Given the description of an element on the screen output the (x, y) to click on. 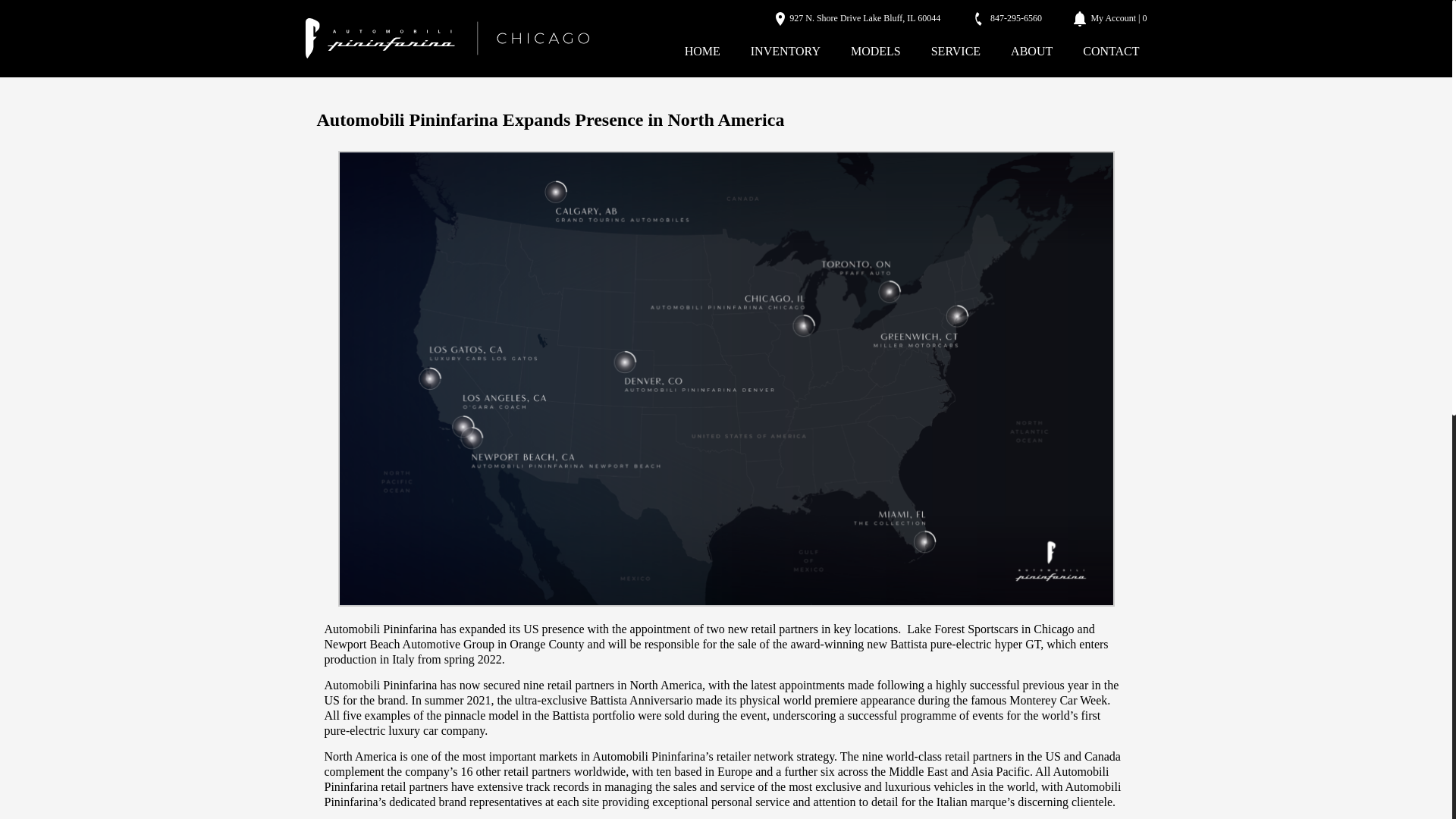
INVENTORY (785, 50)
SERVICE (955, 50)
Pininfarina Chicago (446, 38)
HOME (702, 50)
MODELS (875, 50)
CONTACT (1111, 50)
927 N. Shore Drive Lake Bluff, IL 60044 (858, 18)
847-295-6560 (1007, 18)
Phone (1007, 18)
ABOUT (1031, 50)
